Given the description of an element on the screen output the (x, y) to click on. 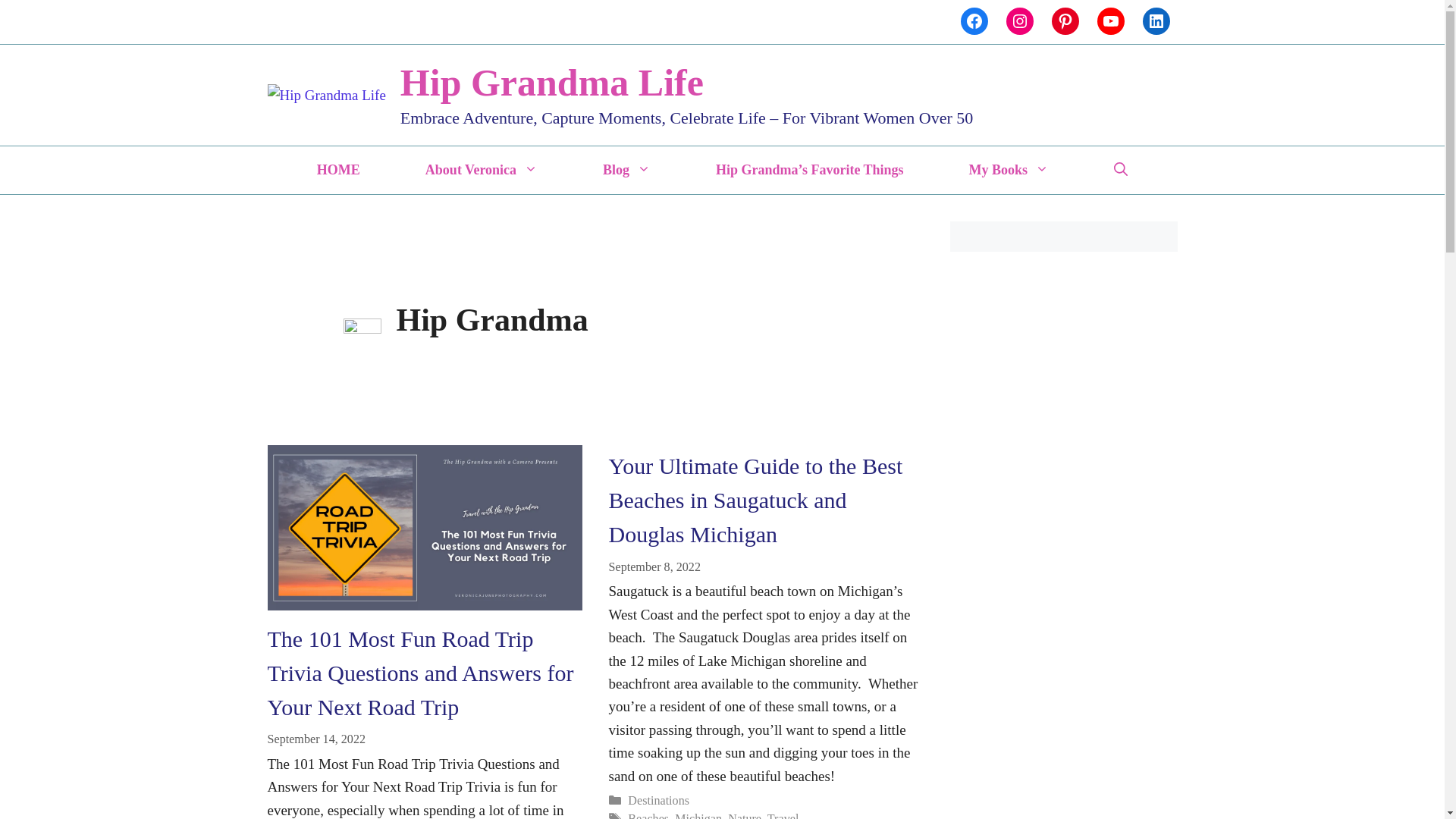
Instagram (1019, 21)
Nature (744, 815)
About Veronica (481, 170)
Beaches (647, 815)
YouTube (1110, 21)
Pinterest (1064, 21)
My Books (1008, 170)
Destinations (657, 799)
